Given the description of an element on the screen output the (x, y) to click on. 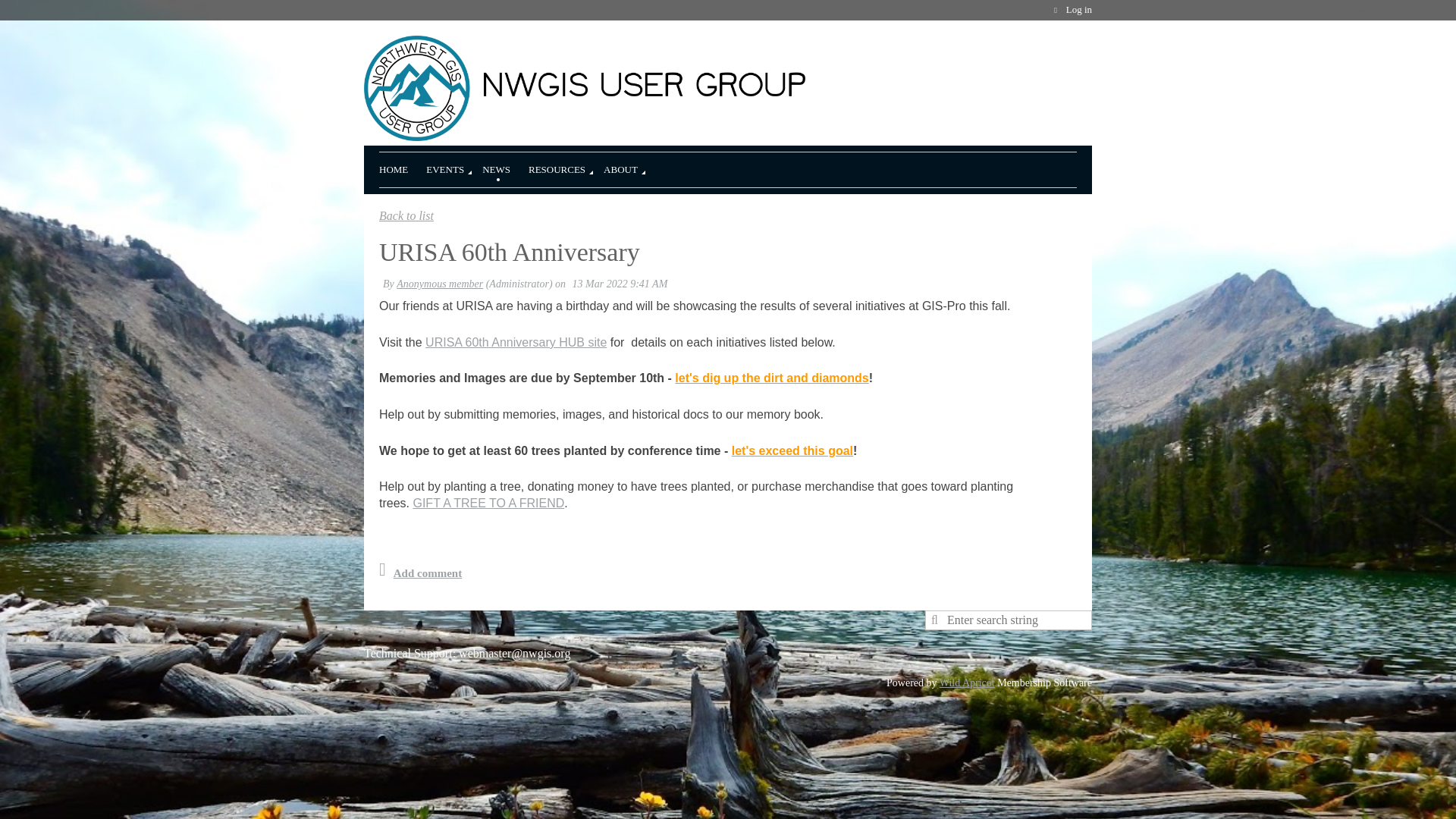
EVENTS (453, 167)
Log in (1070, 10)
HOME (402, 167)
